Given the description of an element on the screen output the (x, y) to click on. 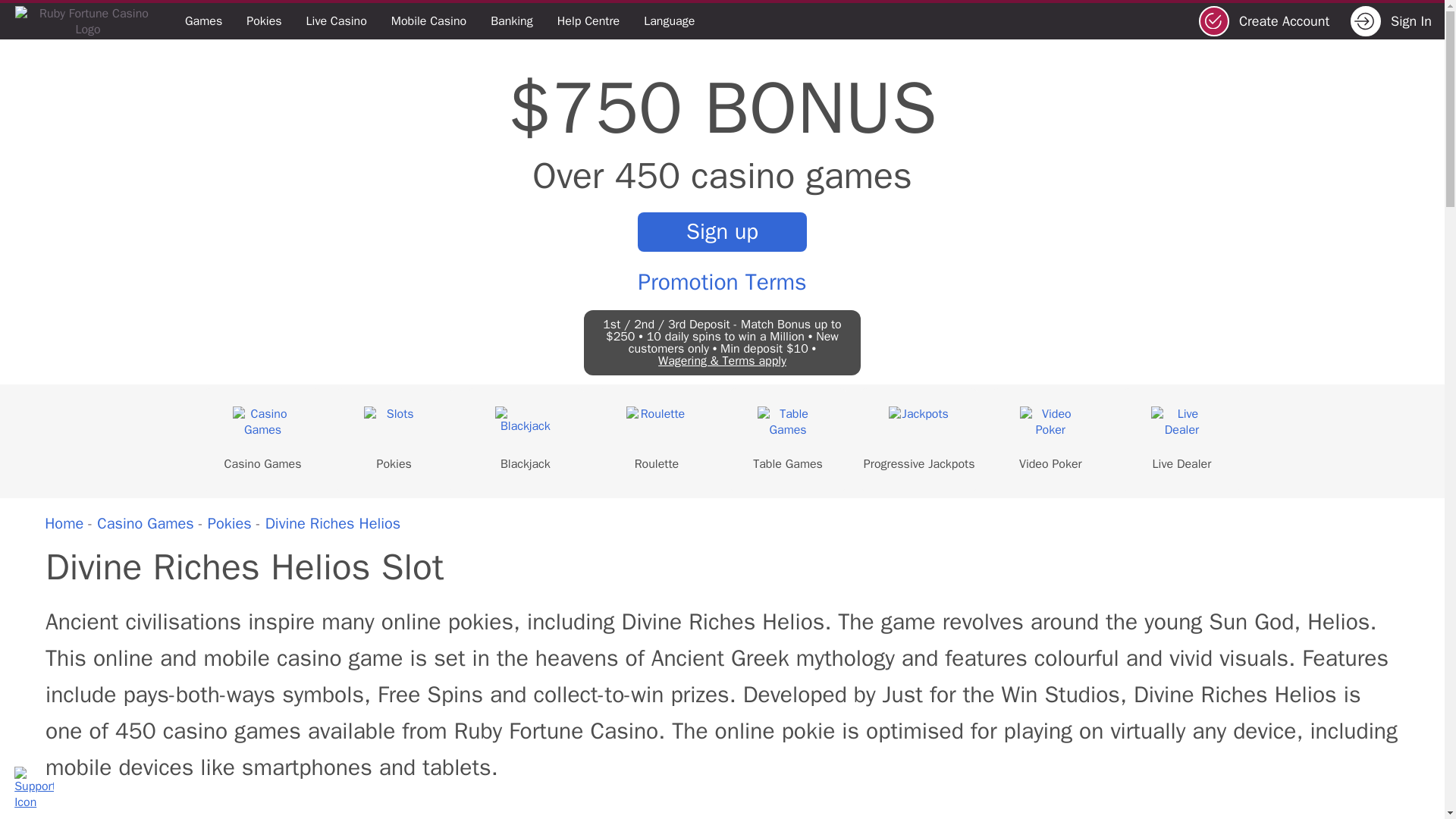
Language (668, 21)
Create Account (1268, 20)
Banking (511, 20)
Pokies (264, 21)
Sign In (1396, 20)
Help Centre (587, 21)
Games (203, 21)
Live Casino (336, 21)
Mobile Casino (428, 21)
